Given the description of an element on the screen output the (x, y) to click on. 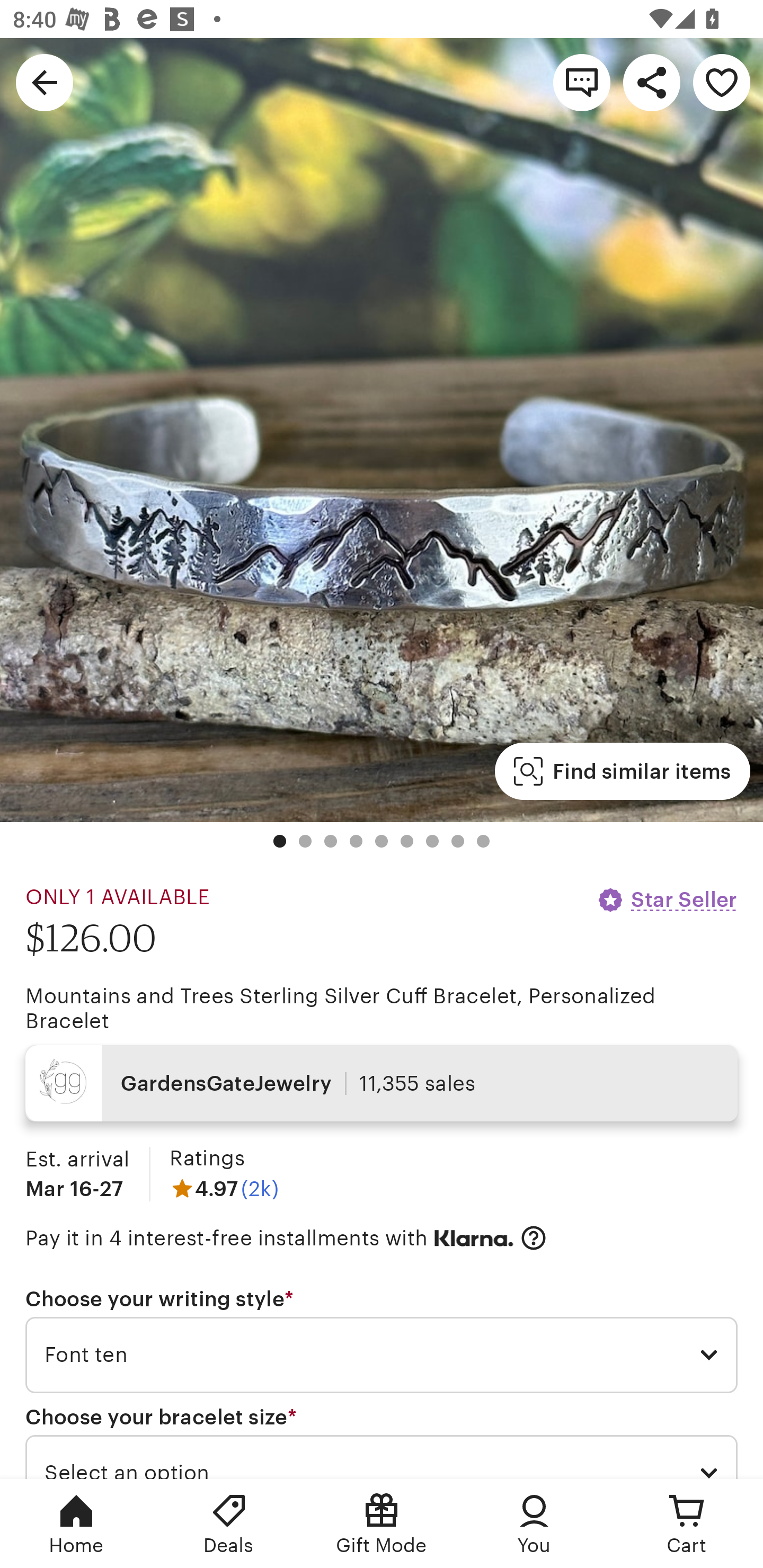
Navigate up (44, 81)
Contact shop (581, 81)
Share (651, 81)
Find similar items (622, 771)
Star Seller (666, 899)
GardensGateJewelry 11,355 sales (381, 1083)
Ratings (206, 1157)
4.97 (2k) (223, 1188)
Choose your writing style * Required Font ten (381, 1340)
Font ten (381, 1355)
Select an option (381, 1456)
Deals (228, 1523)
Gift Mode (381, 1523)
You (533, 1523)
Cart (686, 1523)
